Given the description of an element on the screen output the (x, y) to click on. 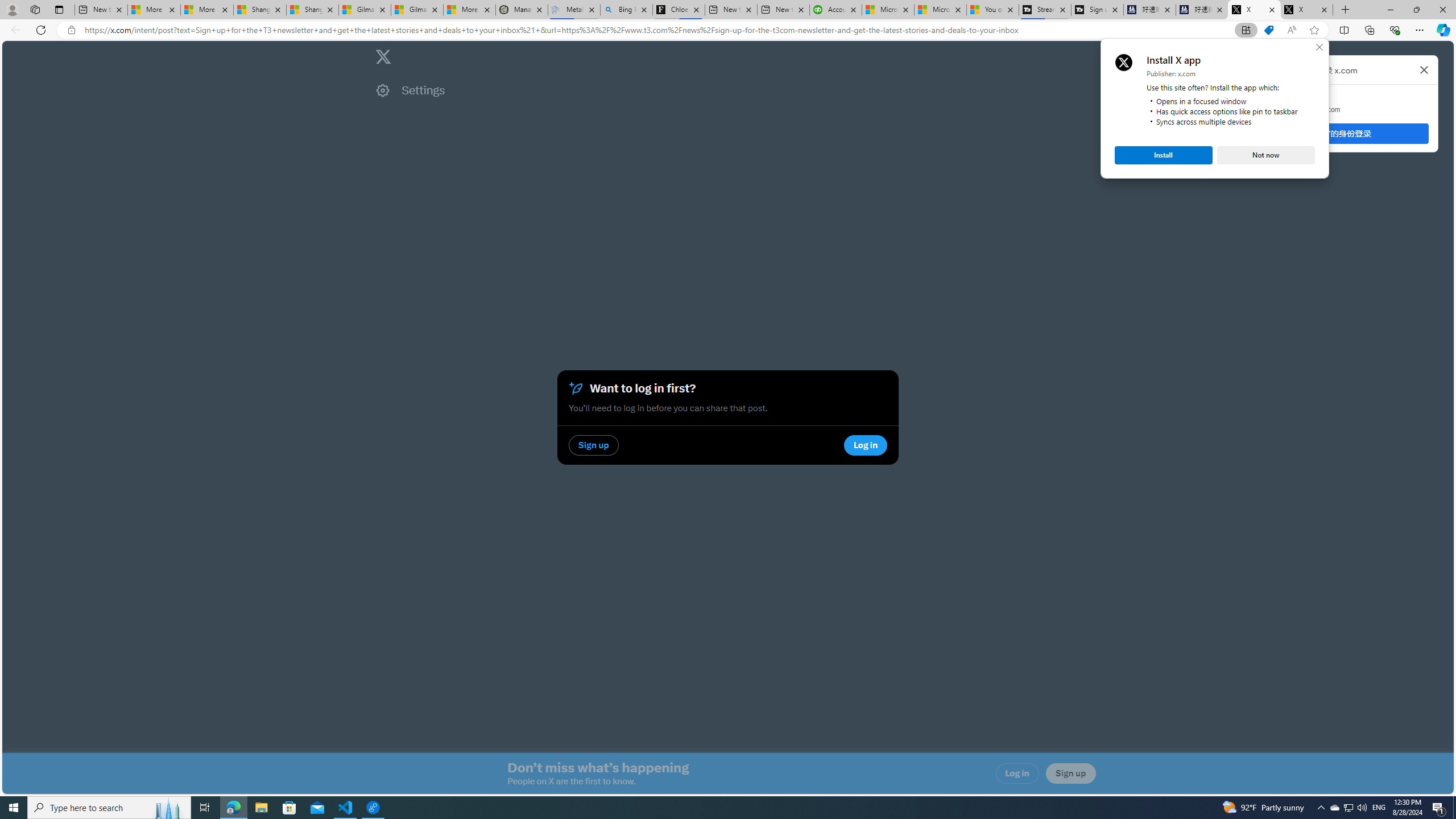
Copilot (Ctrl+Shift+.) (1442, 29)
Q2790: 100% (1361, 807)
Minimize (1390, 9)
Not now (1265, 154)
Refresh (40, 29)
Accounting Software for Accountants, CPAs and Bookkeepers (835, 9)
Chloe Sorvino (678, 9)
Microsoft Start Sports (887, 9)
Close (1333, 807)
Gilma and Hector both pose tropical trouble for Hawaii (1319, 46)
Search highlights icon opens search home window (416, 9)
